Given the description of an element on the screen output the (x, y) to click on. 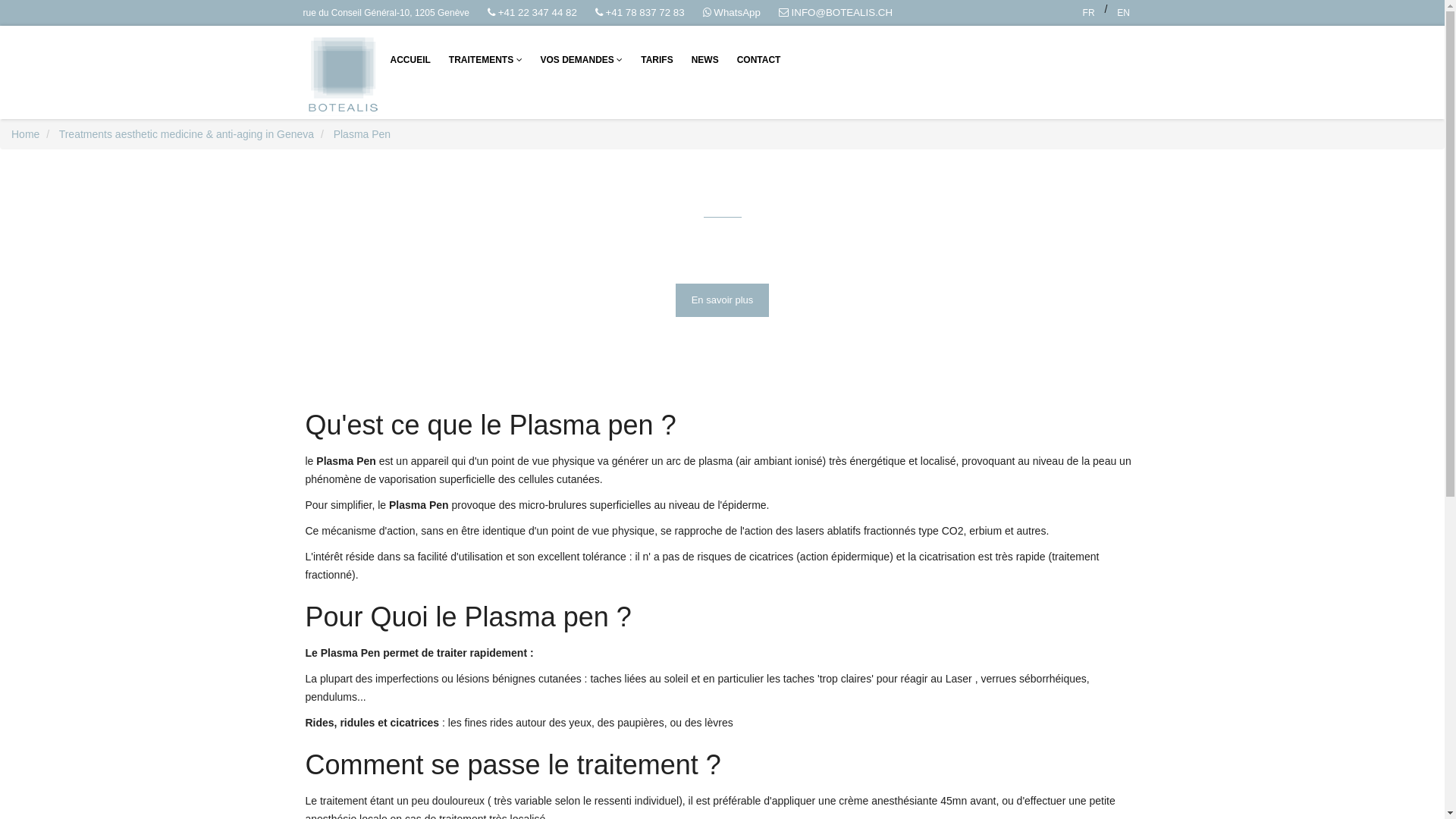
VOS DEMANDES Element type: text (581, 59)
+41 22 347 44 82 Element type: text (532, 12)
INFO@BOTEALIS.CH Element type: text (835, 12)
CONTACT Element type: text (759, 59)
TRAITEMENTS Element type: text (485, 59)
TARIFS Element type: text (656, 59)
EN Element type: text (1123, 12)
Plasma Pen Element type: text (361, 134)
En savoir plus Element type: text (722, 300)
Treatments aesthetic medicine & anti-aging in Geneva Element type: text (186, 134)
NEWS Element type: text (705, 59)
ACCUEIL Element type: text (409, 59)
FR Element type: text (1088, 12)
Home Element type: text (25, 134)
WhatsApp Element type: text (731, 12)
+41 78 837 72 83 Element type: text (639, 12)
